Given the description of an element on the screen output the (x, y) to click on. 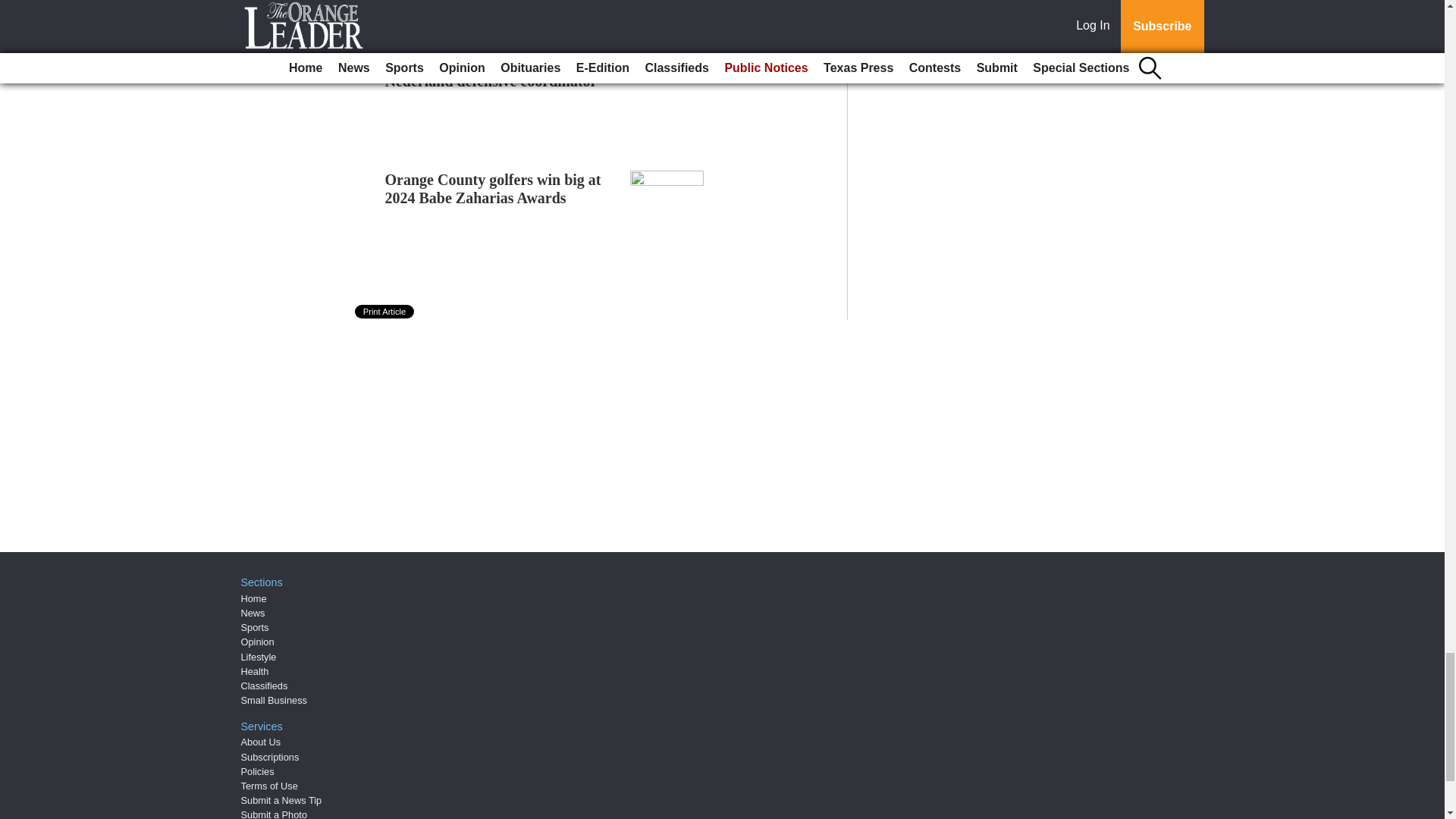
Home (253, 598)
Orange County golfers win big at 2024 Babe Zaharias Awards (493, 188)
Print Article (384, 311)
Orange County golfers win big at 2024 Babe Zaharias Awards (493, 188)
News (252, 613)
Sports (255, 627)
